Given the description of an element on the screen output the (x, y) to click on. 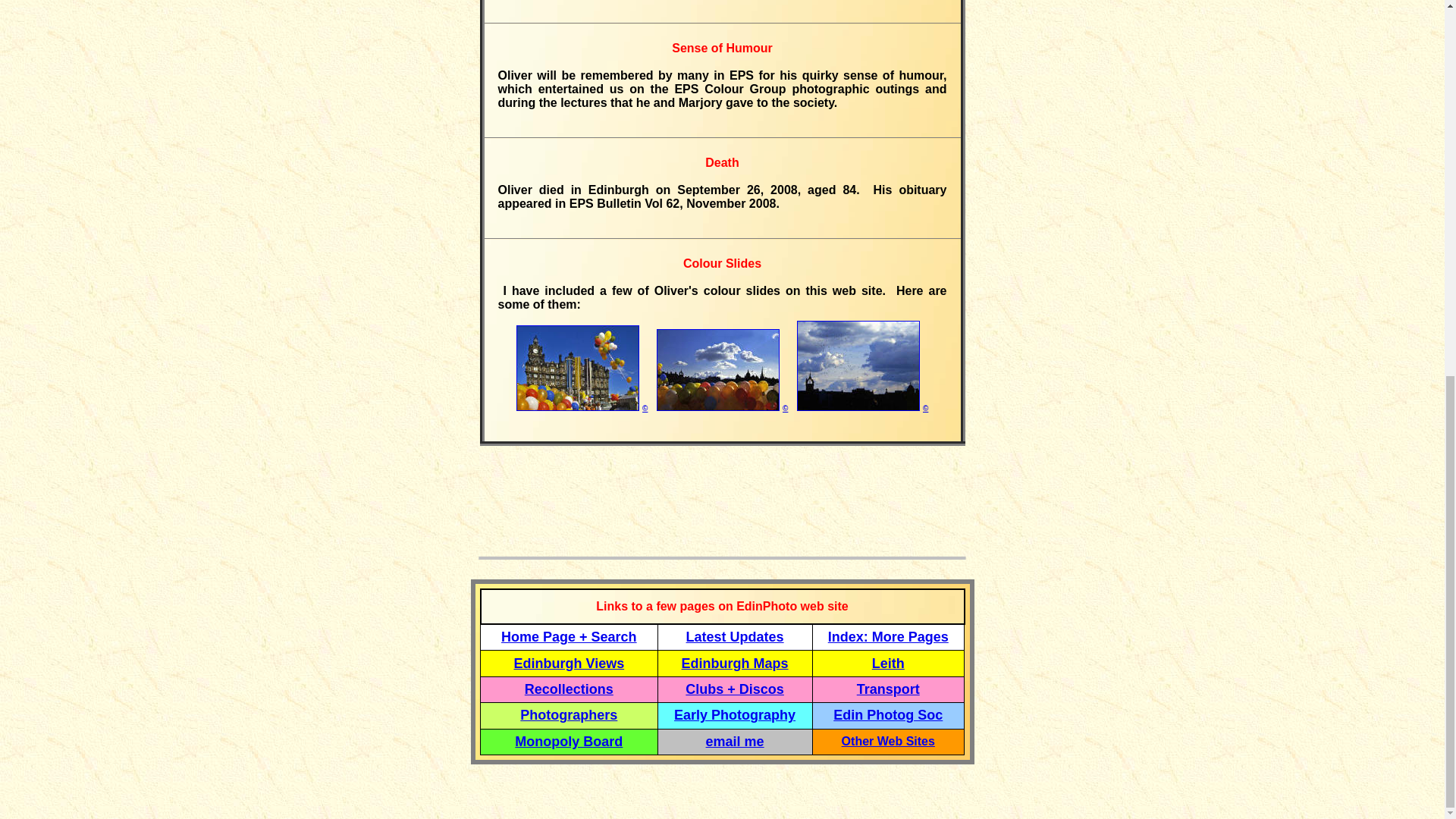
Edinburgh Views (568, 663)
Recollections (568, 688)
Index: More Pages (888, 636)
Transport (888, 688)
Latest Updates (734, 636)
Leith (888, 663)
Early Photography (734, 714)
Edinburgh Maps (735, 663)
Photographers (568, 714)
Monopoly Board (569, 741)
Edin Photog Soc (887, 714)
